Given the description of an element on the screen output the (x, y) to click on. 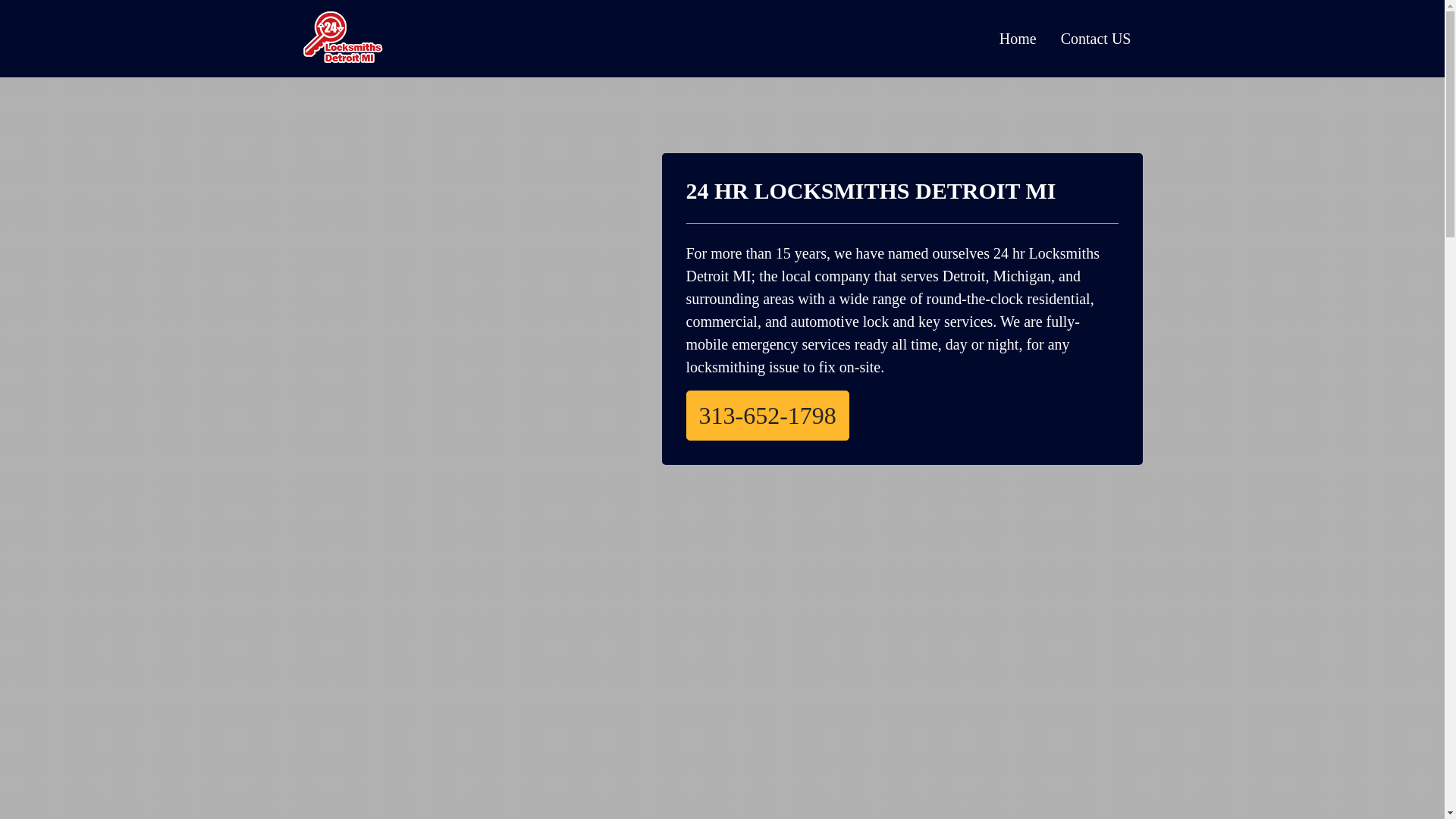
Home Element type: text (1017, 38)
313-652-1798 Element type: text (766, 415)
Contact US Element type: text (1095, 38)
